Given the description of an element on the screen output the (x, y) to click on. 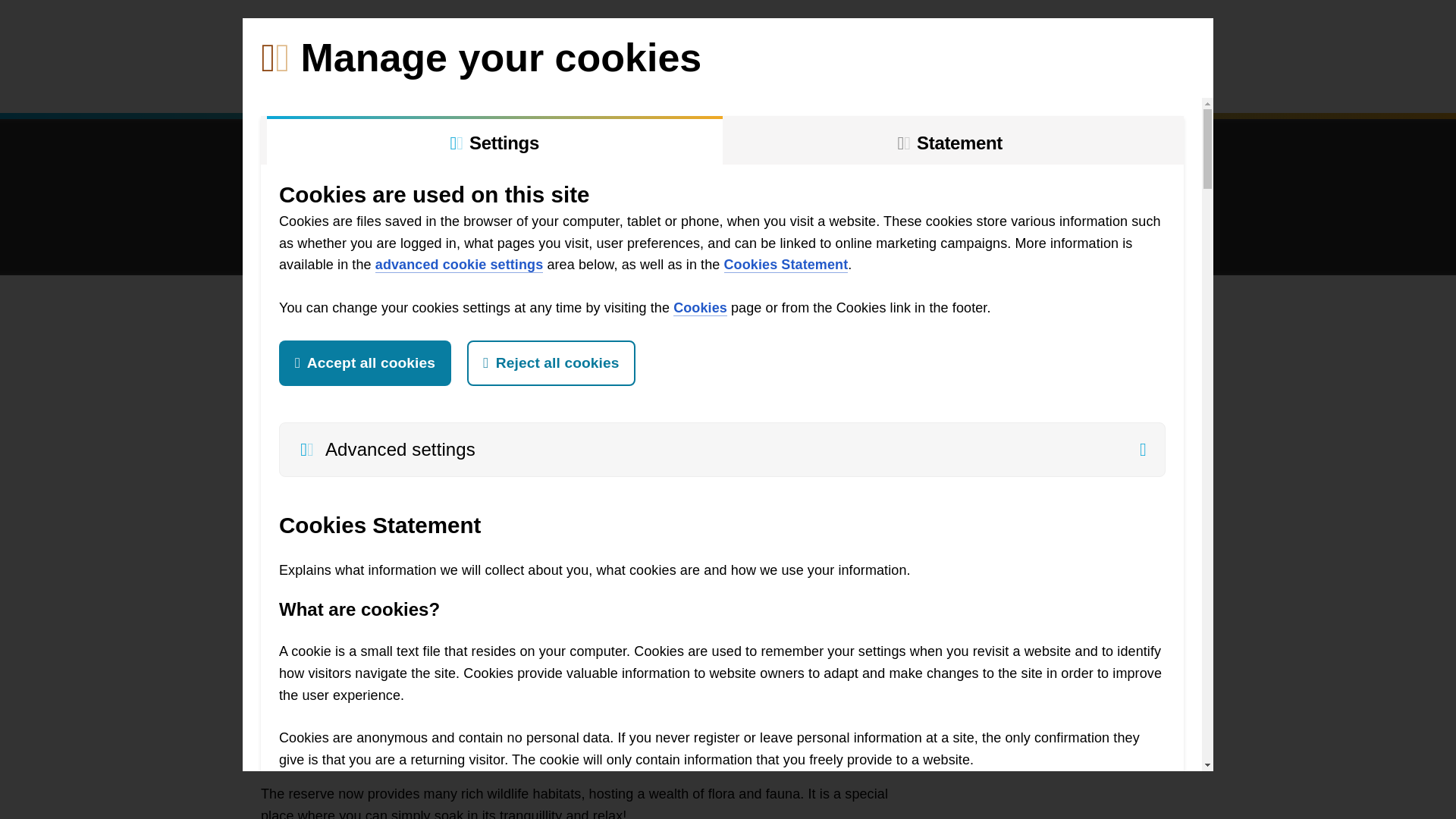
Home (283, 83)
Conservation and Safety (687, 83)
Volunteering (356, 83)
List of East Riding Culture and Leisure sites (379, 33)
What's on (831, 83)
Contact (1039, 83)
Countryside (538, 83)
Coast (443, 83)
Directory of beaches, parks and reserves in the East Riding (1185, 32)
